Given the description of an element on the screen output the (x, y) to click on. 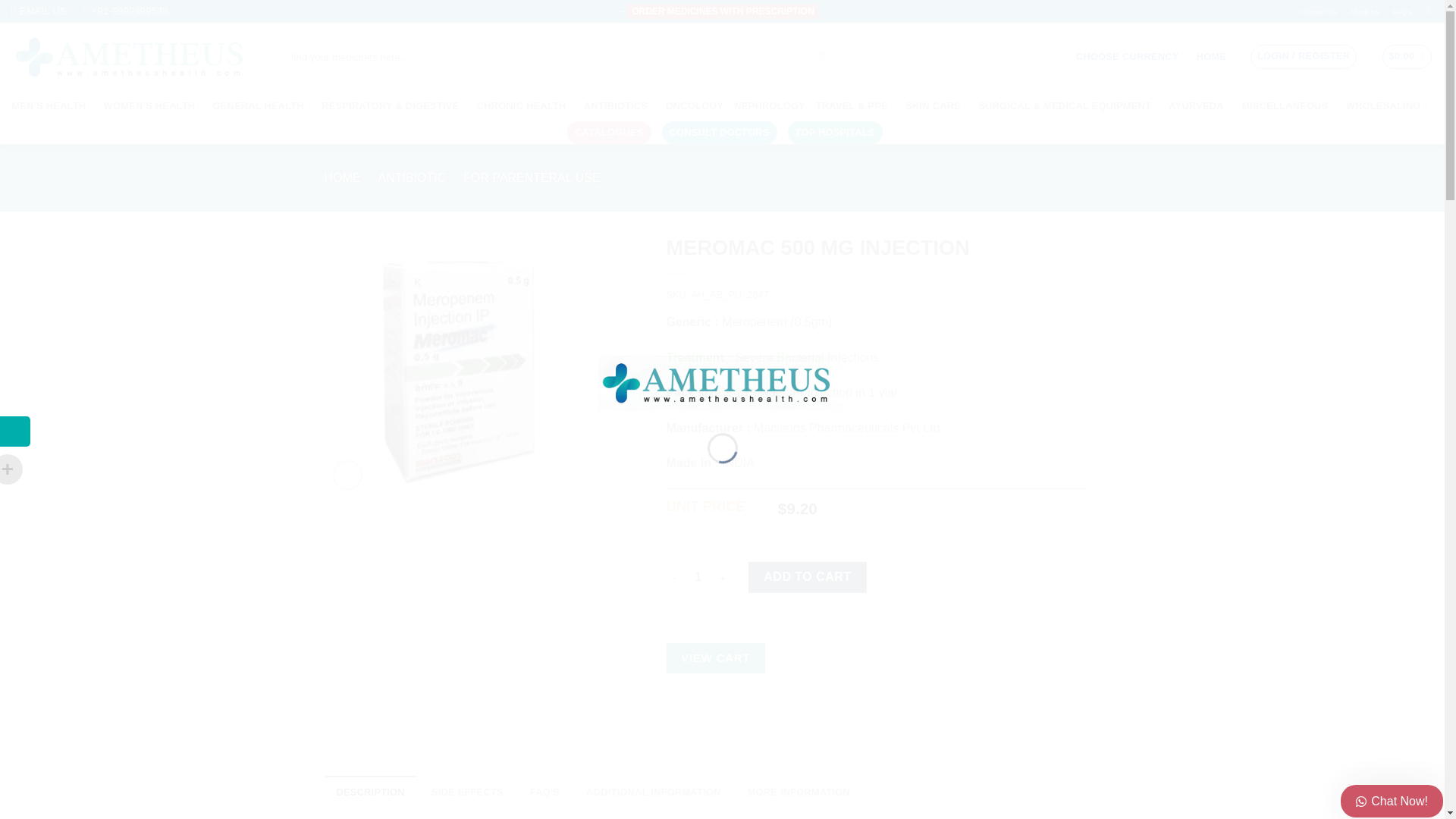
Qty (697, 576)
Ametheus Health (135, 57)
Zoom (347, 474)
FAQ's (1401, 11)
Contact Us (1318, 11)
HOME (1210, 56)
MEROMAC 500 MG INJECTION- Ametheus Health (454, 365)
ORDER MEDICINES WITH PRESCRIPTION (722, 11)
About Us (1363, 11)
Ametheus Health (720, 381)
